Given the description of an element on the screen output the (x, y) to click on. 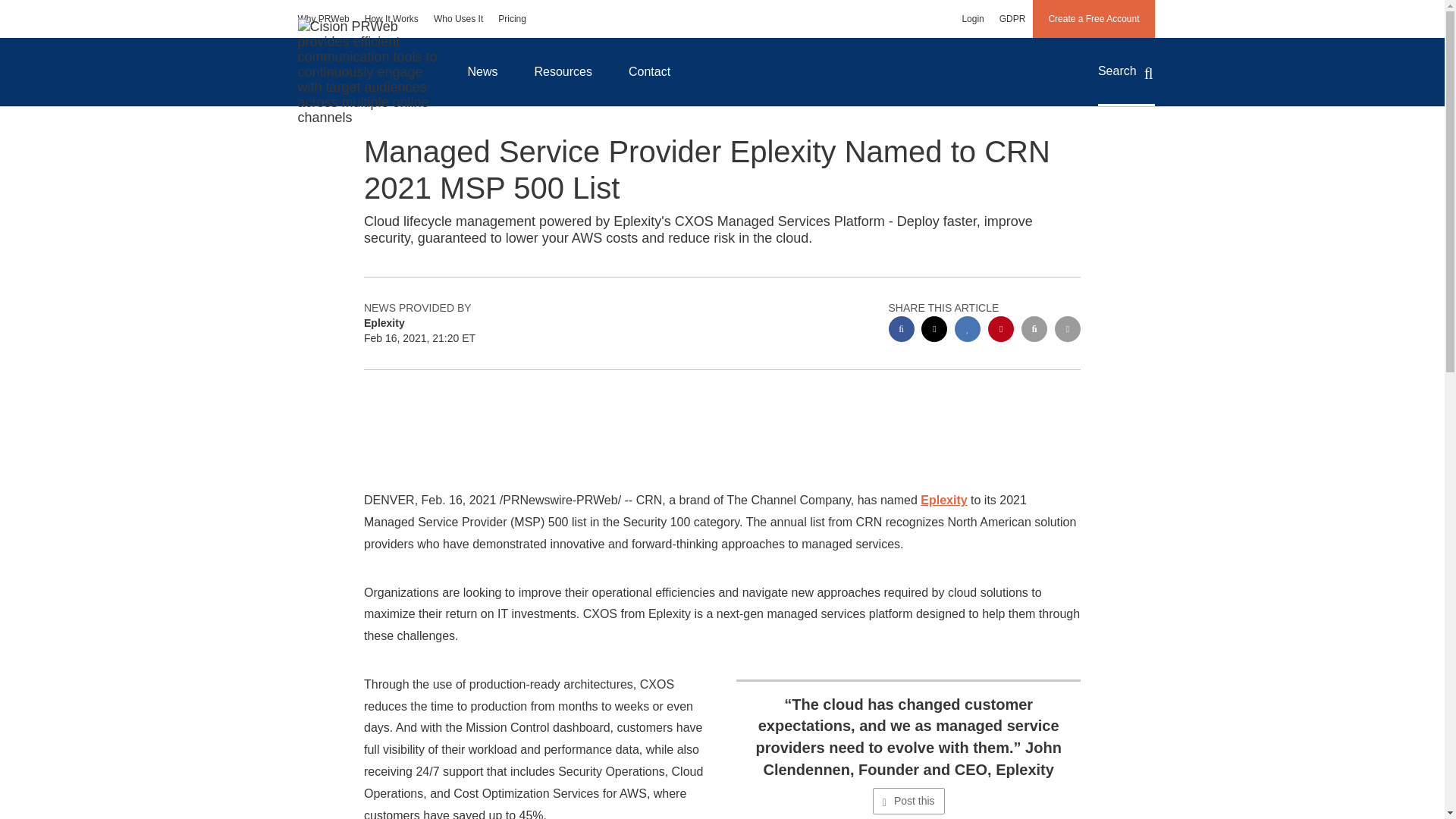
Contact (649, 71)
Resources (563, 71)
How It Works (391, 18)
Create a Free Account (1093, 18)
Pricing (512, 18)
Who Uses It (458, 18)
Login (972, 18)
Why PRWeb (322, 18)
News (481, 71)
